Given the description of an element on the screen output the (x, y) to click on. 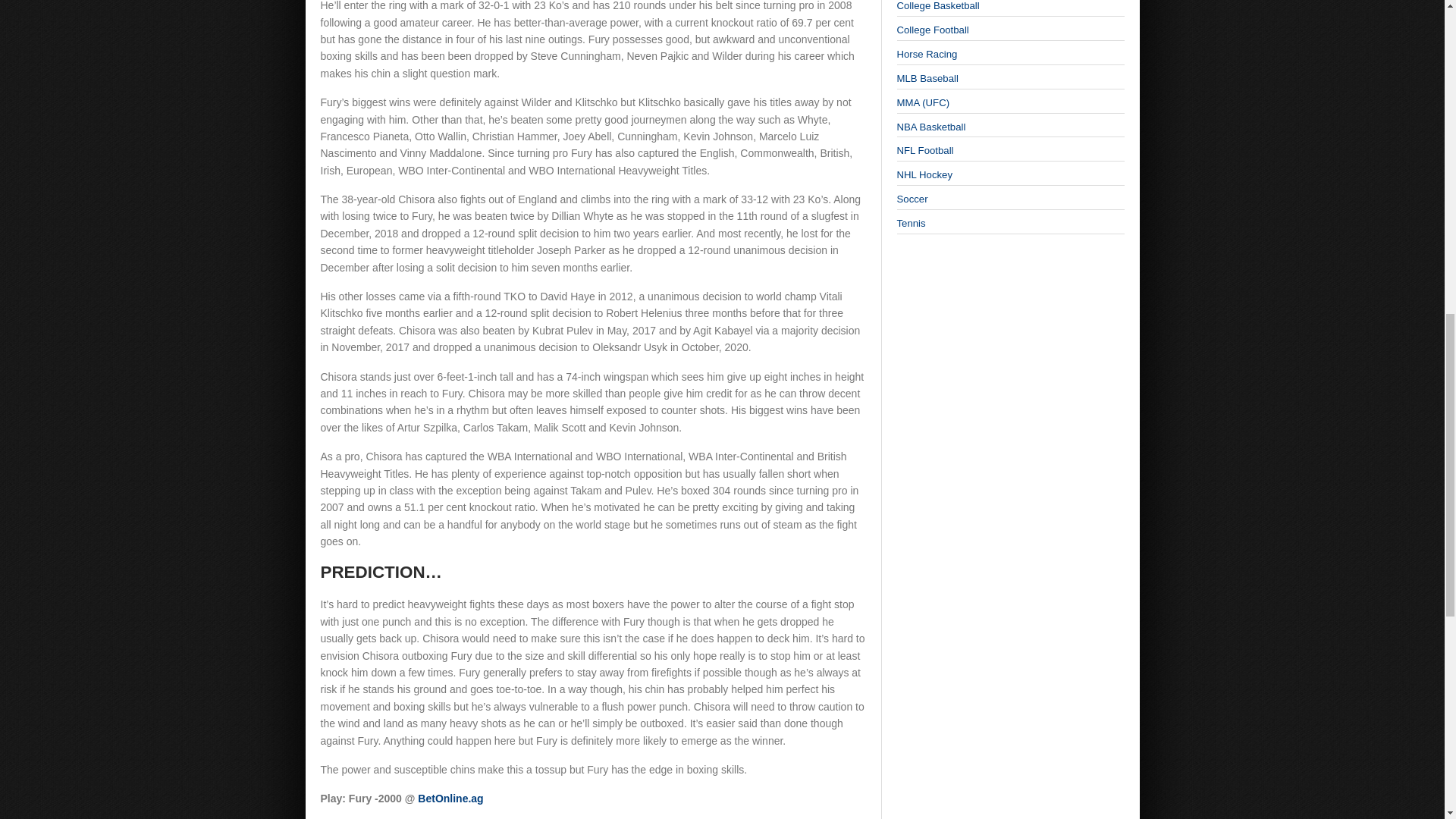
NCAA Football Betting (932, 30)
NFL Betting (924, 150)
NBA Betting (930, 126)
Horse Race Betting (926, 53)
NHL Betting (924, 174)
MMA Betting (922, 102)
NCAA Basketball Betting (937, 5)
MLB Betting (927, 78)
BetOnline.ag (450, 798)
